Given the description of an element on the screen output the (x, y) to click on. 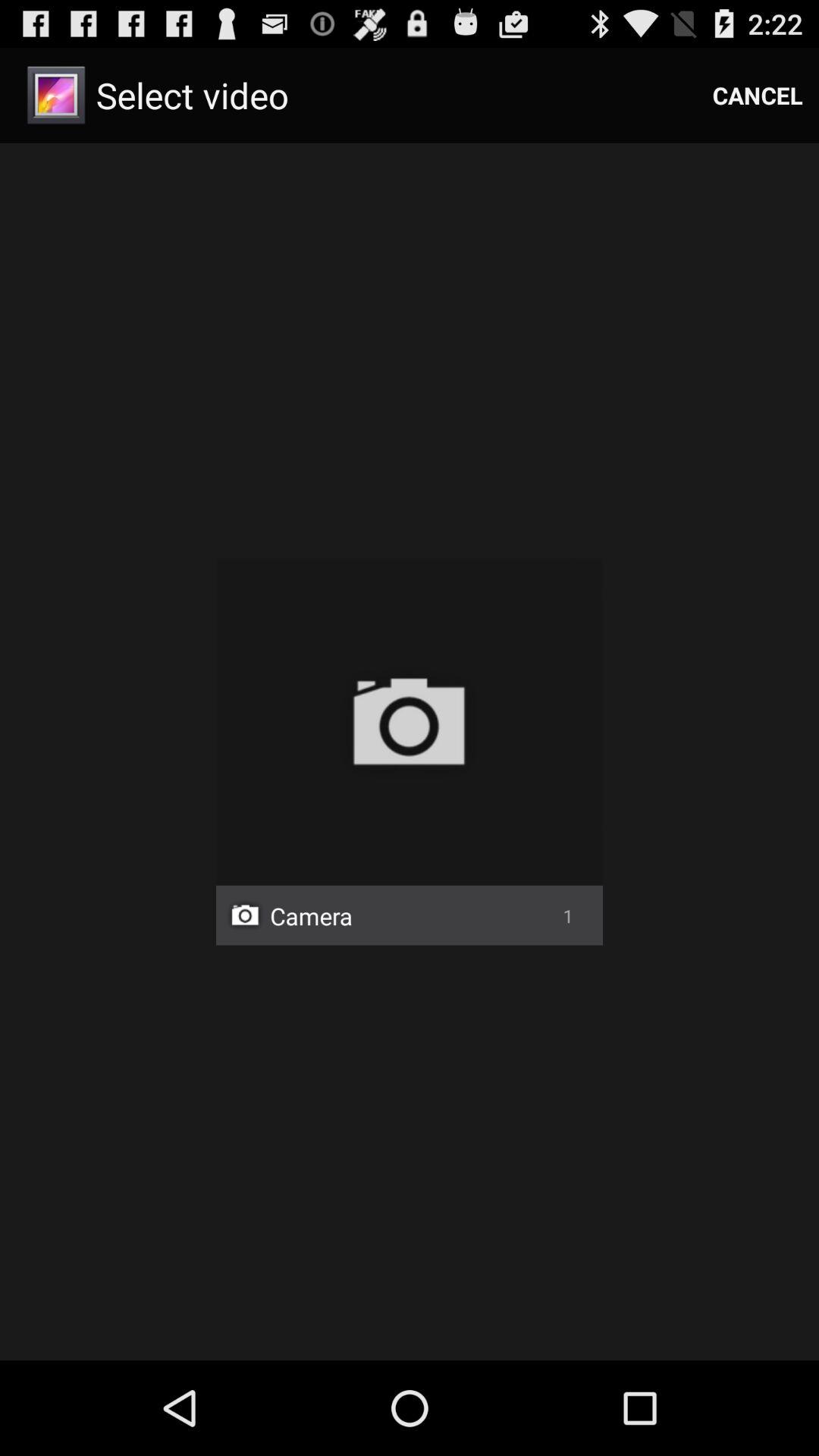
choose the cancel icon (757, 95)
